Given the description of an element on the screen output the (x, y) to click on. 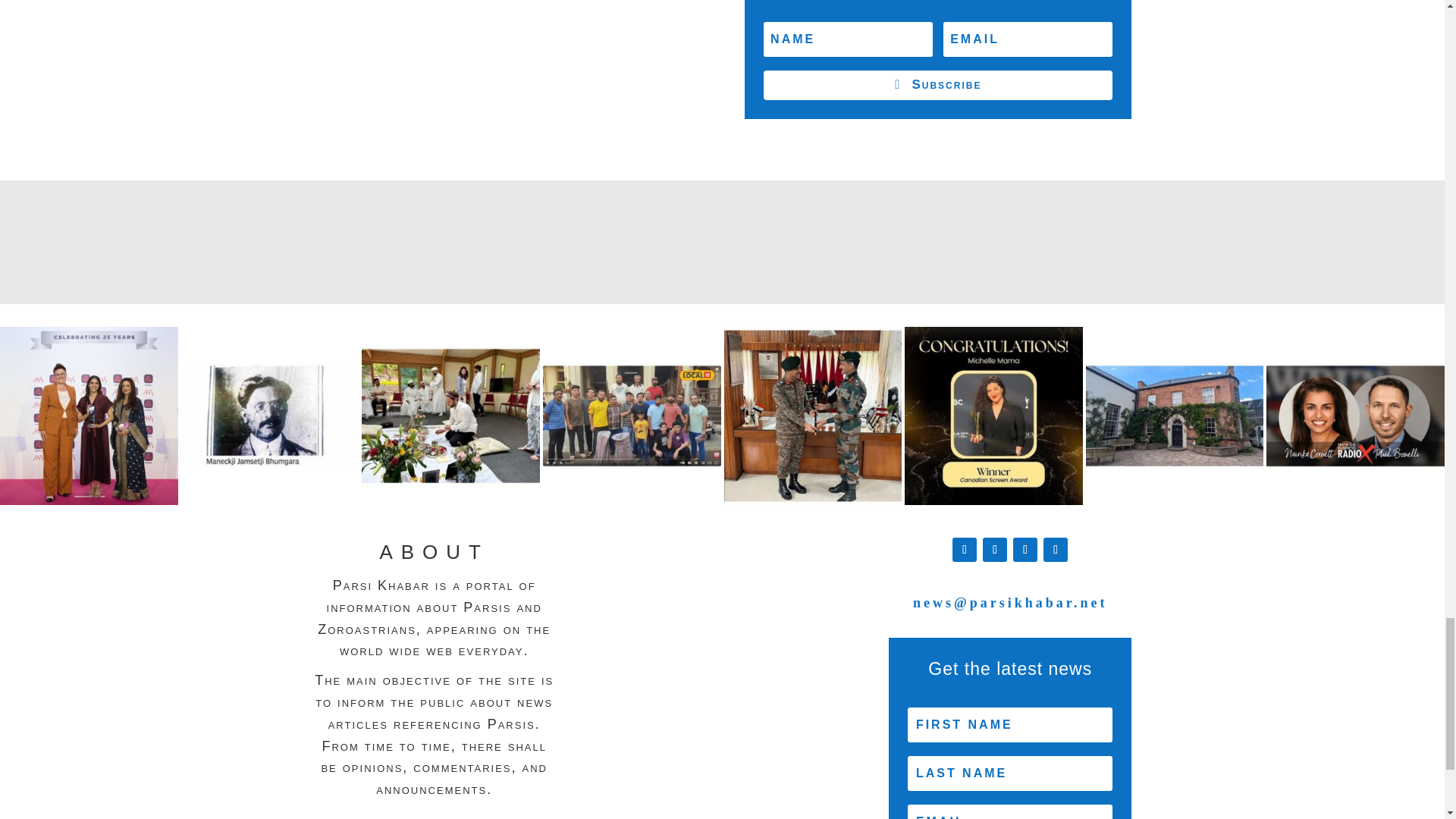
Subscribe (937, 84)
Follow on Instagram (1024, 549)
Follow on Facebook (964, 549)
Follow on X (994, 549)
Follow on Youtube (1055, 549)
